Given the description of an element on the screen output the (x, y) to click on. 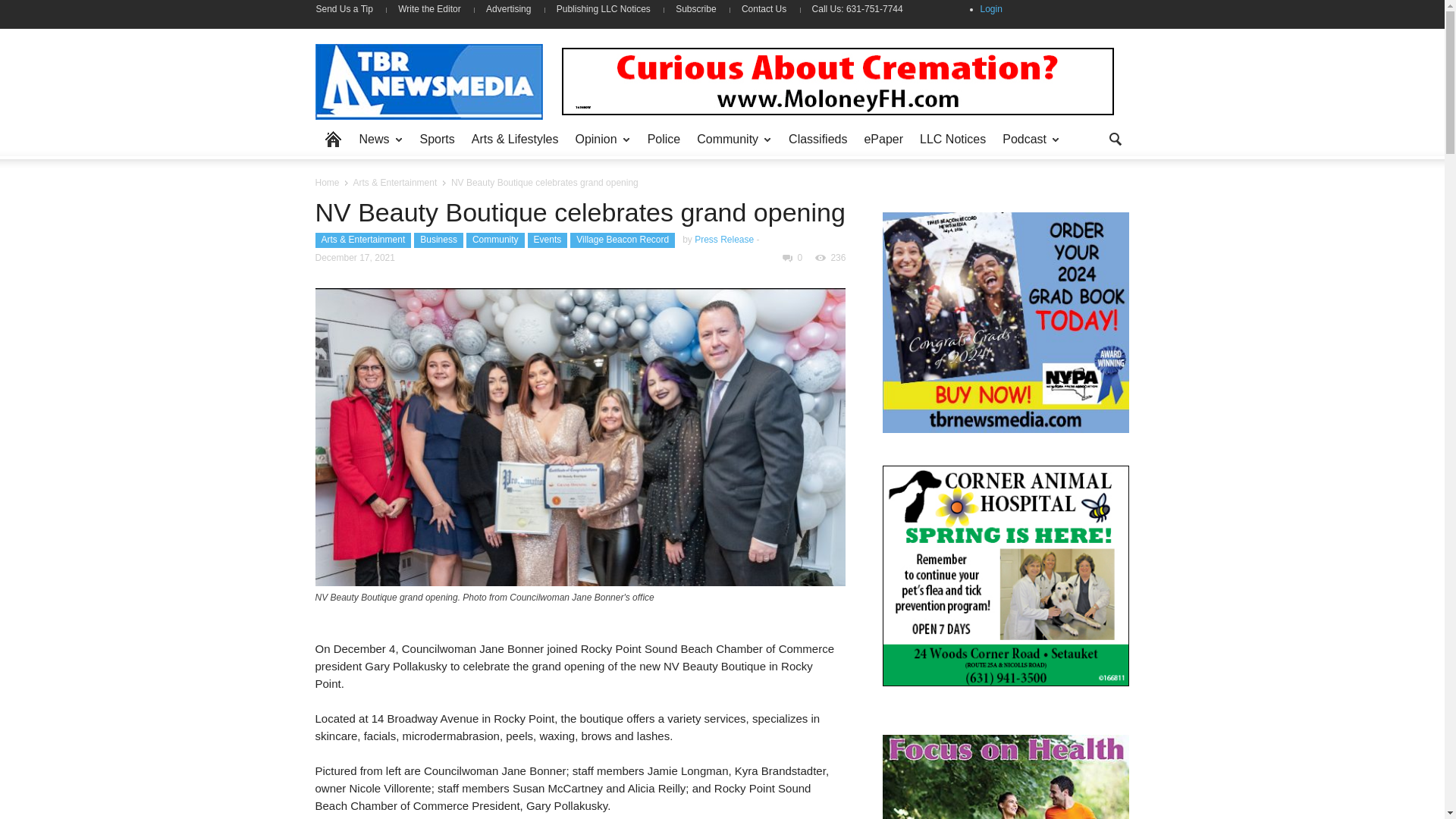
Send Us a Tip (349, 9)
Contact Us (763, 9)
Advertising (507, 9)
Moloney FH (836, 80)
Corner Animal Hospital (1005, 576)
Write the Editor (429, 9)
